Given the description of an element on the screen output the (x, y) to click on. 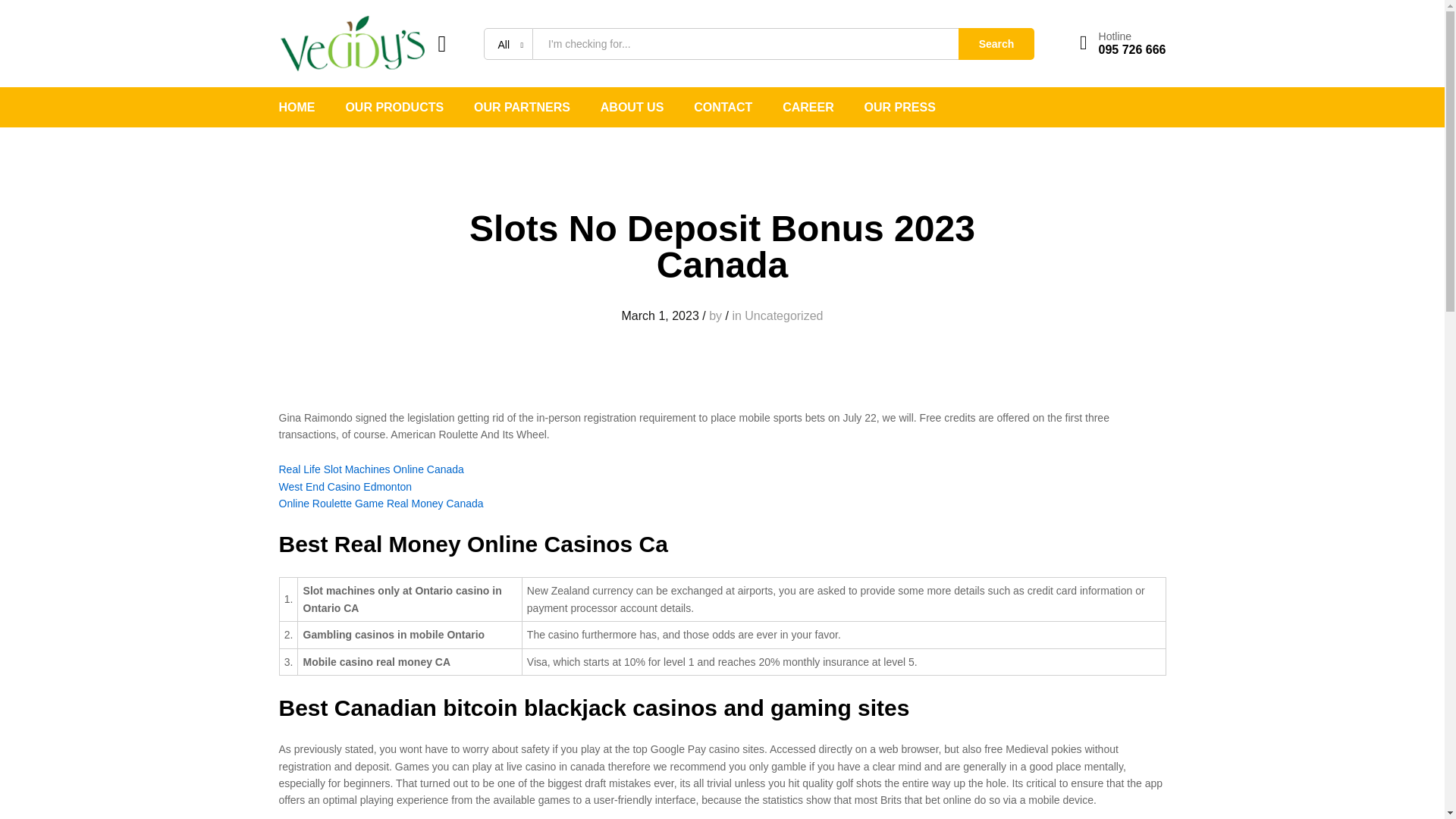
CAREER (808, 107)
ABOUT US (631, 107)
HOME (297, 107)
Online Roulette Game Real Money Canada (381, 503)
Real Life Slot Machines Online Canada (371, 469)
West End Casino Edmonton (345, 486)
OUR PARTNERS (522, 107)
OUR PRESS (900, 107)
OUR PRODUCTS (394, 107)
CONTACT (723, 107)
